Given the description of an element on the screen output the (x, y) to click on. 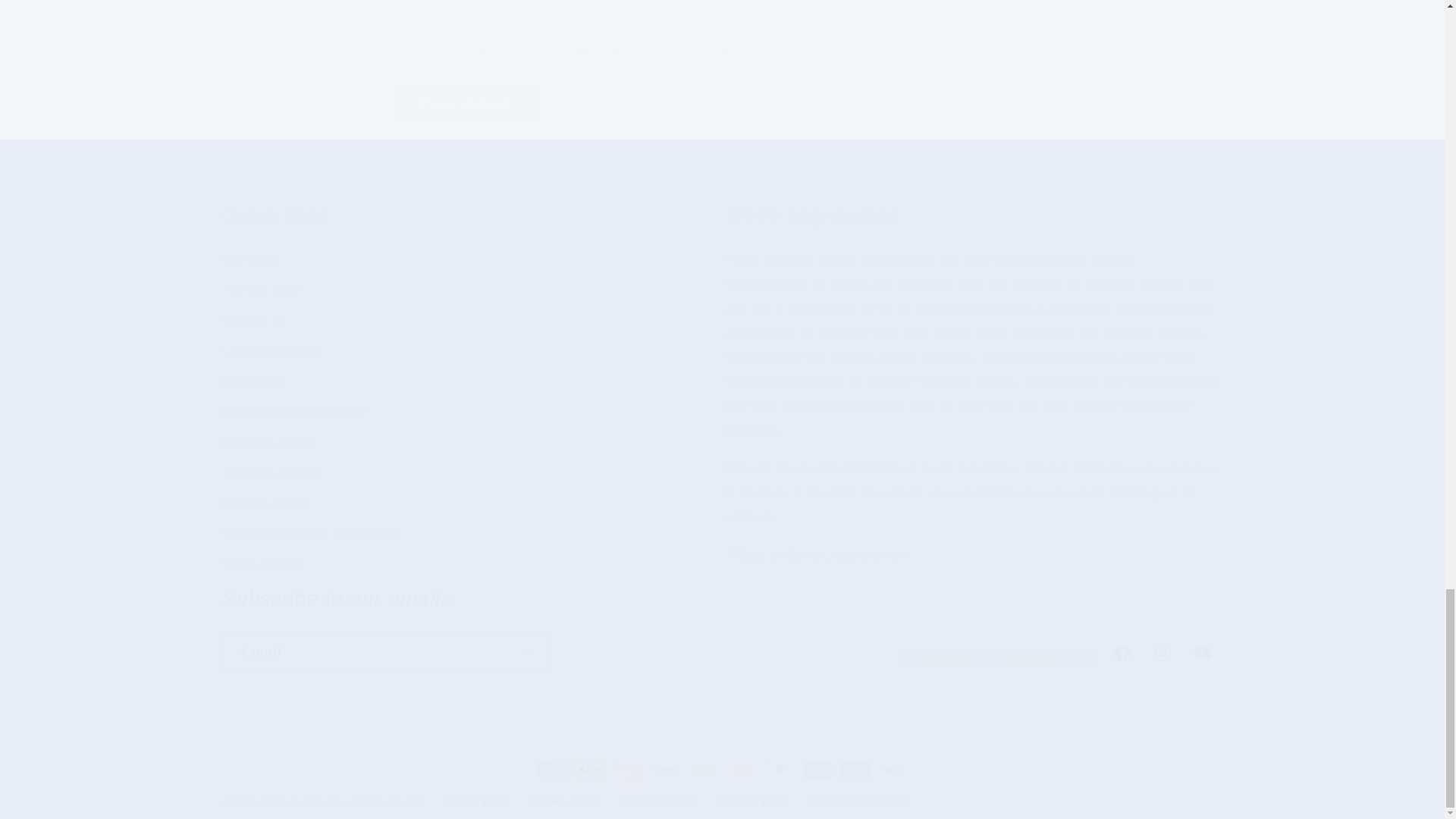
Post comment (722, 629)
